Given the description of an element on the screen output the (x, y) to click on. 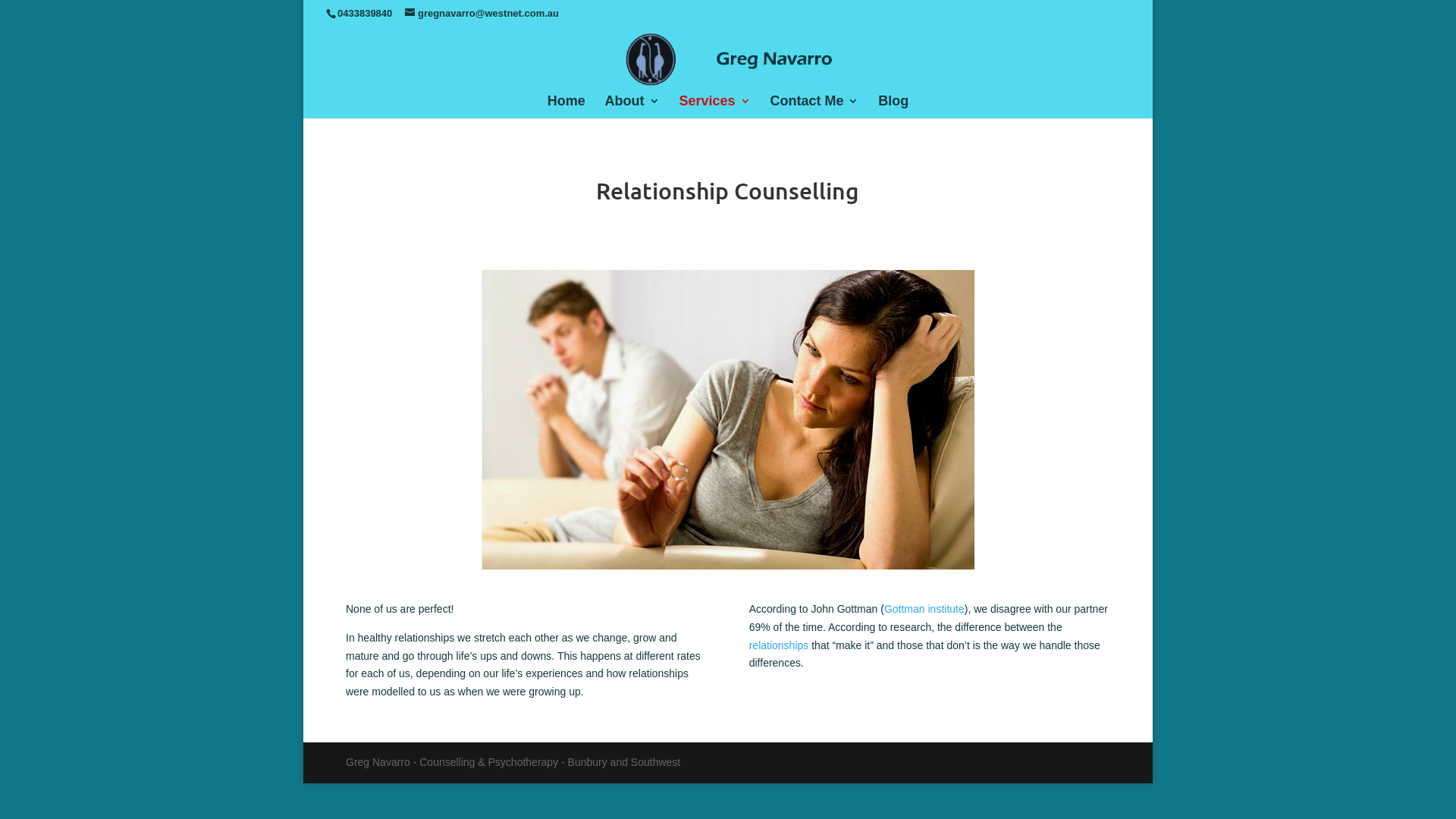
Contact Me Element type: text (813, 106)
Services Element type: text (713, 106)
Blog Element type: text (893, 106)
relationships Element type: text (779, 645)
Home Element type: text (566, 106)
gregnavarro@westnet.com.au Element type: text (481, 12)
About Element type: text (632, 106)
Gottman institute Element type: text (924, 608)
